Given the description of an element on the screen output the (x, y) to click on. 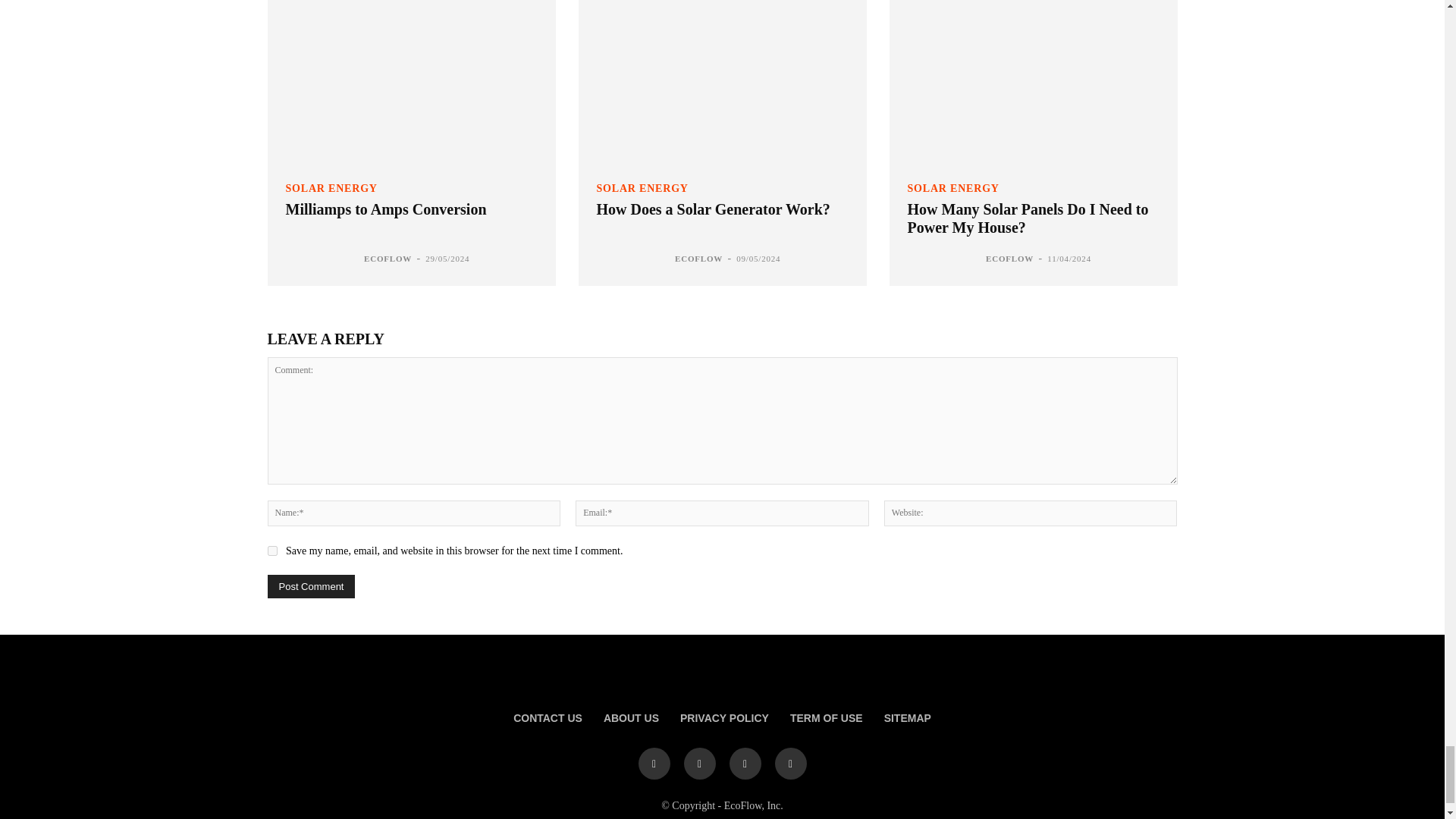
yes (271, 551)
Post Comment (310, 586)
